Given the description of an element on the screen output the (x, y) to click on. 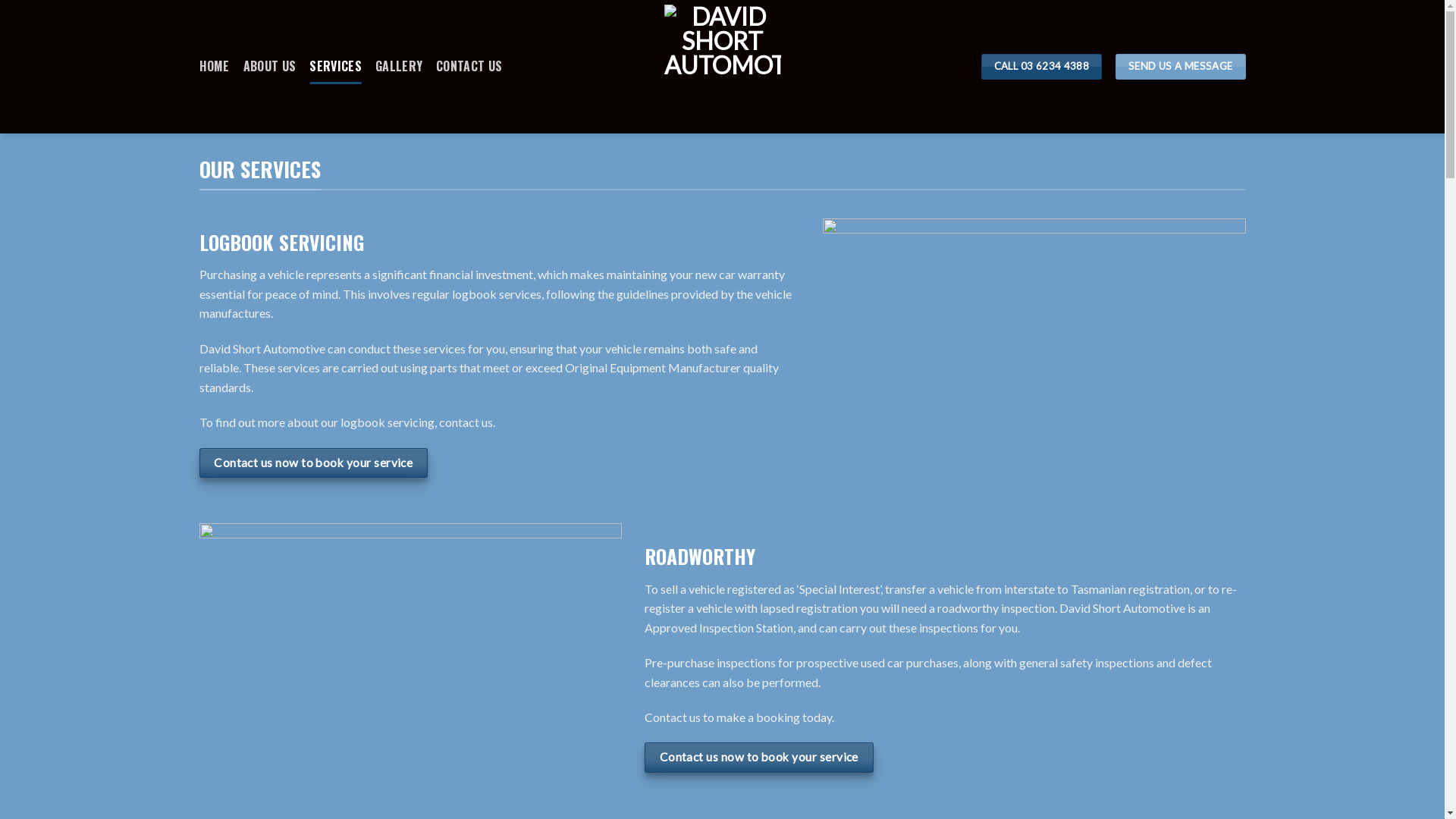
ABOUT US Element type: text (269, 66)
David Short Automotive Element type: hover (722, 67)
CALL 03 6234 4388 Element type: text (1041, 66)
Contact us Element type: text (672, 716)
Contact us now to book your service Element type: text (758, 756)
contact us Element type: text (465, 421)
HOME Element type: text (213, 66)
CONTACT US Element type: text (469, 66)
Skip to content Element type: text (0, 0)
Contact us now to book your service Element type: text (312, 462)
SERVICES Element type: text (335, 66)
GALLERY Element type: text (398, 66)
SEND US A MESSAGE Element type: text (1180, 66)
